Given the description of an element on the screen output the (x, y) to click on. 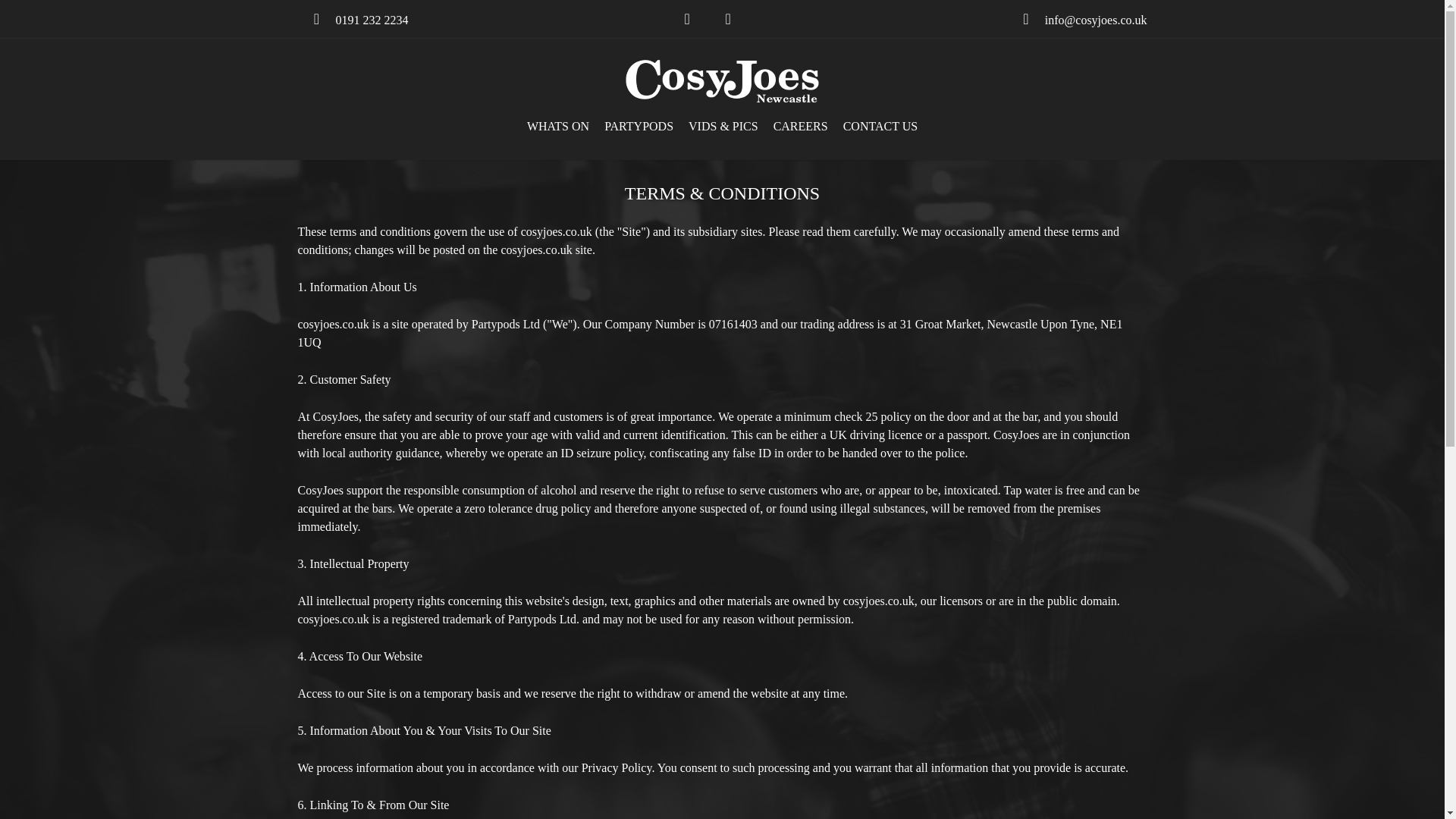
WHATS ON (557, 126)
PARTYPODS (638, 126)
CONTACT US (879, 126)
CAREERS (800, 126)
